Given the description of an element on the screen output the (x, y) to click on. 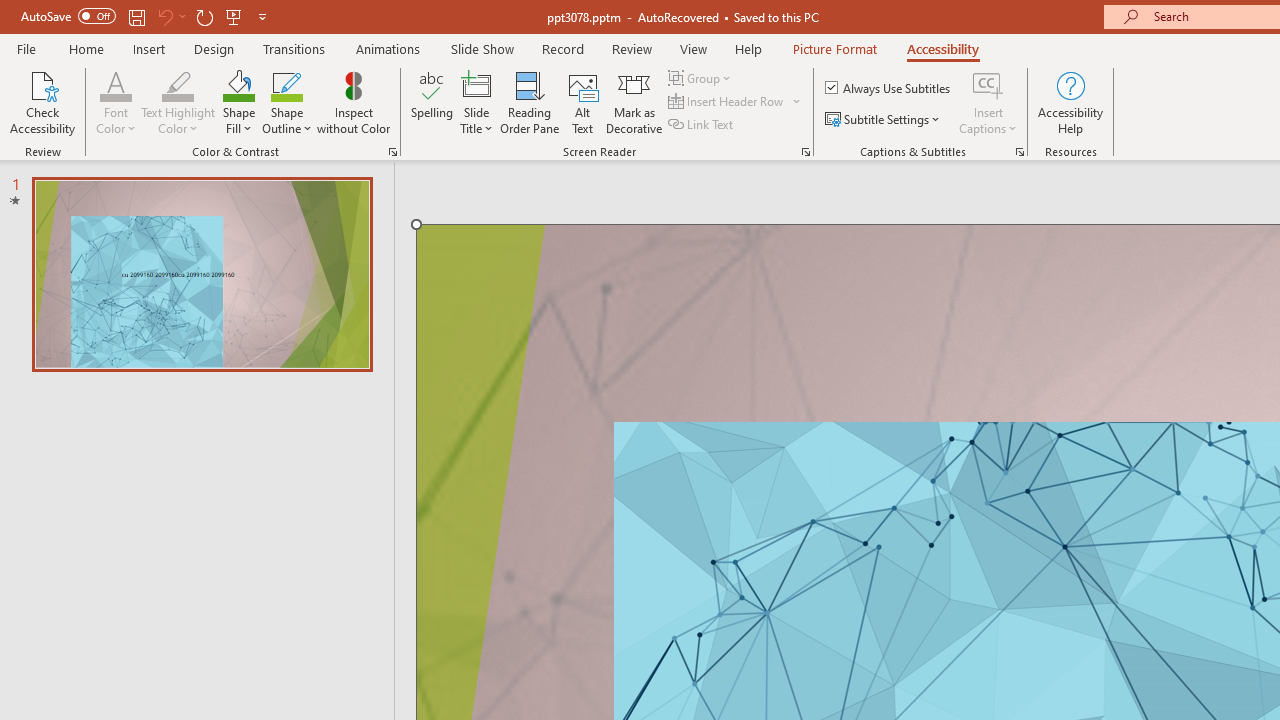
Accessibility Help (1070, 102)
